Given the description of an element on the screen output the (x, y) to click on. 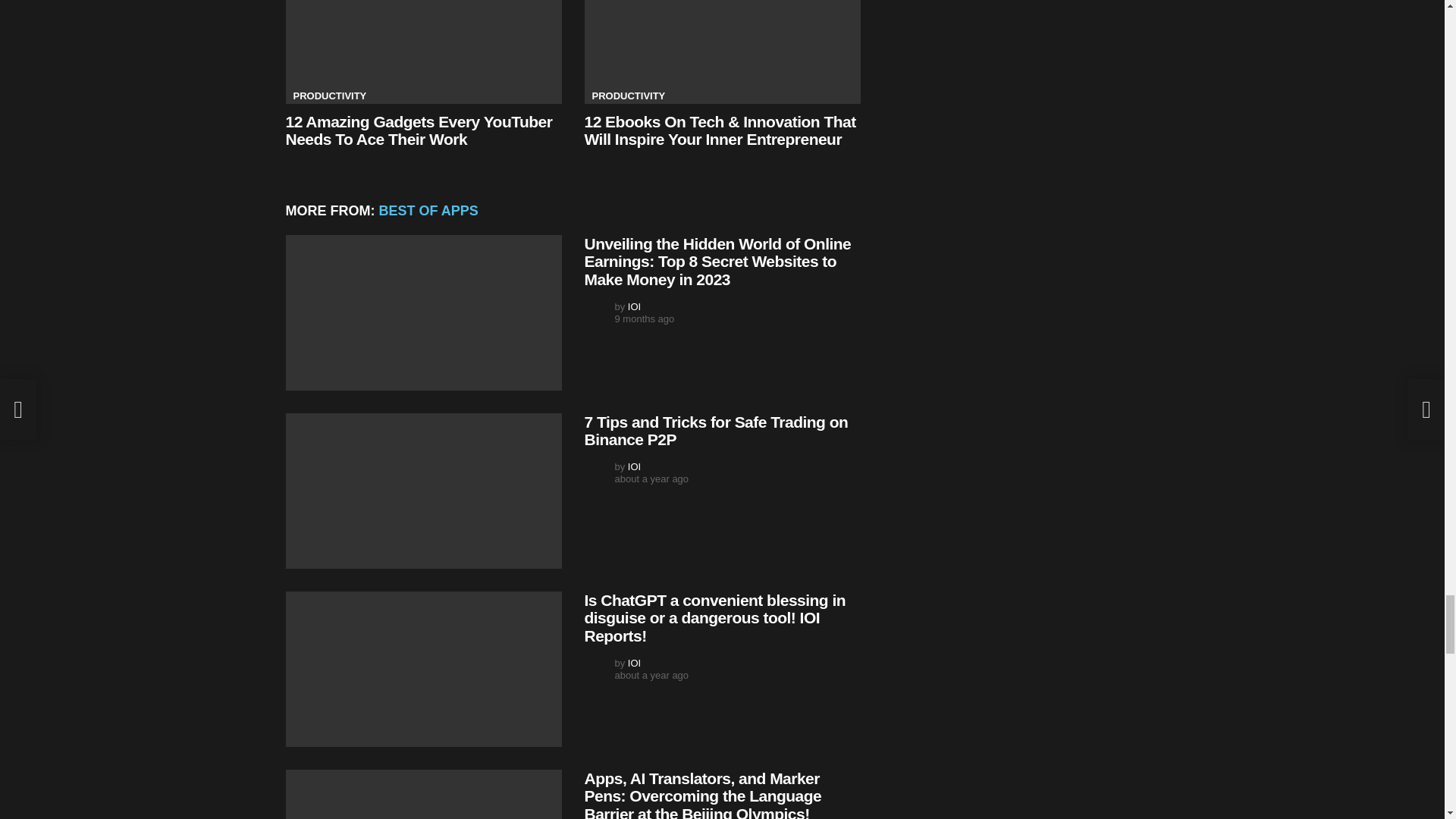
Posts by IOI (633, 466)
12 Amazing Gadgets Every YouTuber Needs To Ace Their Work (422, 52)
7 Tips and Tricks for Safe Trading on Binance P2P (422, 490)
November 7, 2023, 4:44 am (644, 318)
Posts by IOI (633, 306)
